Given the description of an element on the screen output the (x, y) to click on. 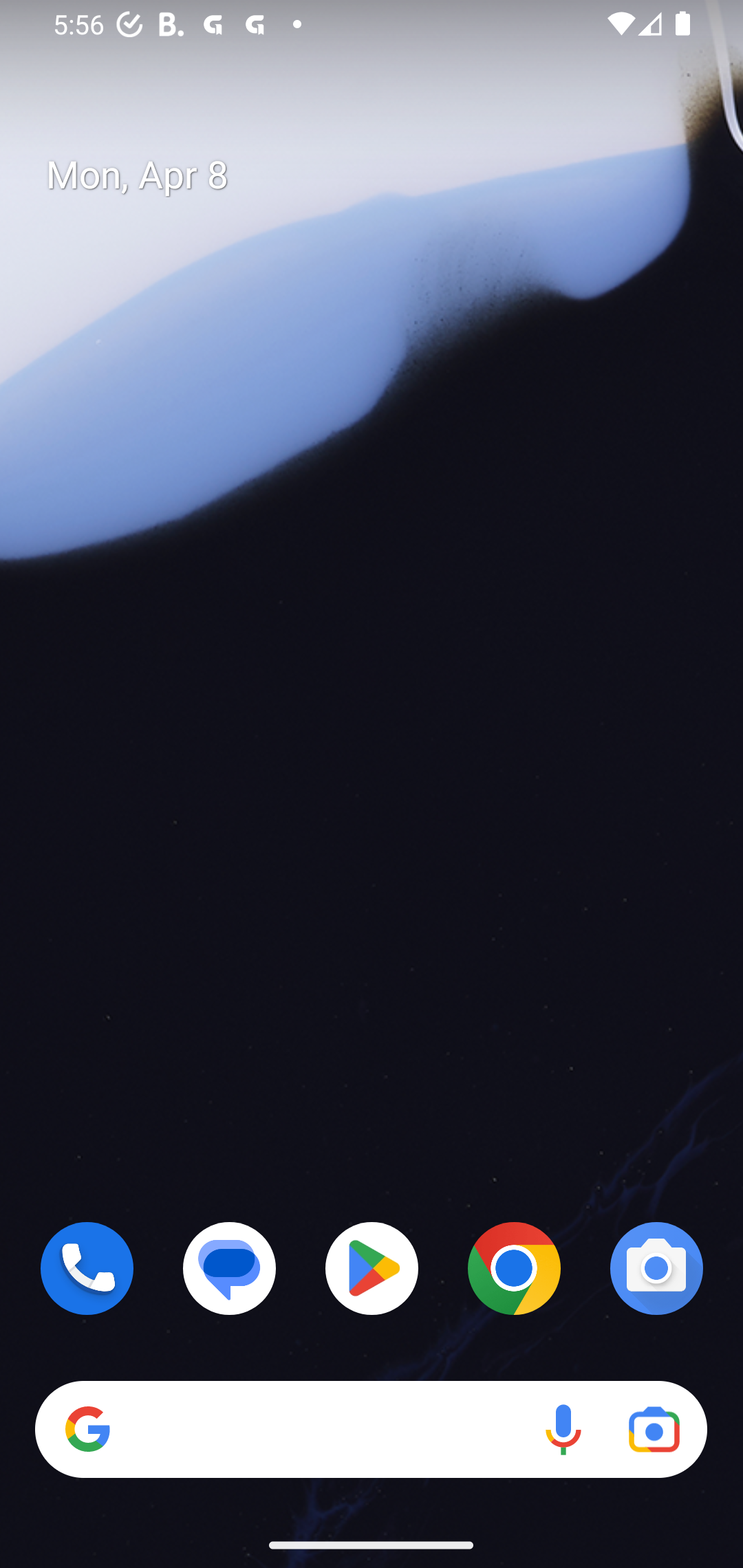
Mon, Apr 8 (386, 175)
Phone (86, 1268)
Messages (229, 1268)
Play Store (371, 1268)
Chrome (513, 1268)
Camera (656, 1268)
Search Voice search Google Lens (370, 1429)
Voice search (562, 1429)
Google Lens (653, 1429)
